Given the description of an element on the screen output the (x, y) to click on. 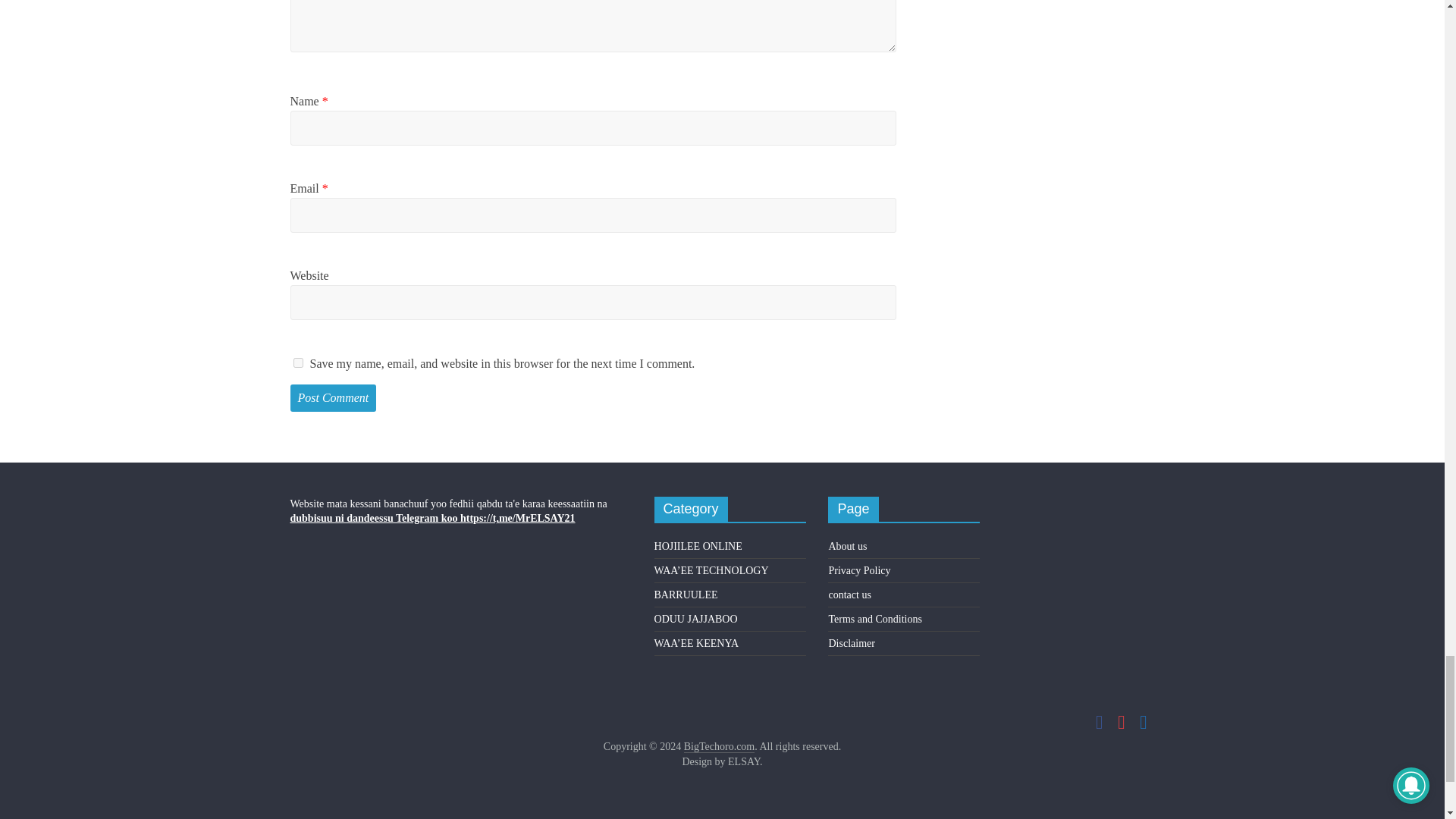
yes (297, 362)
Post Comment (332, 397)
